Given the description of an element on the screen output the (x, y) to click on. 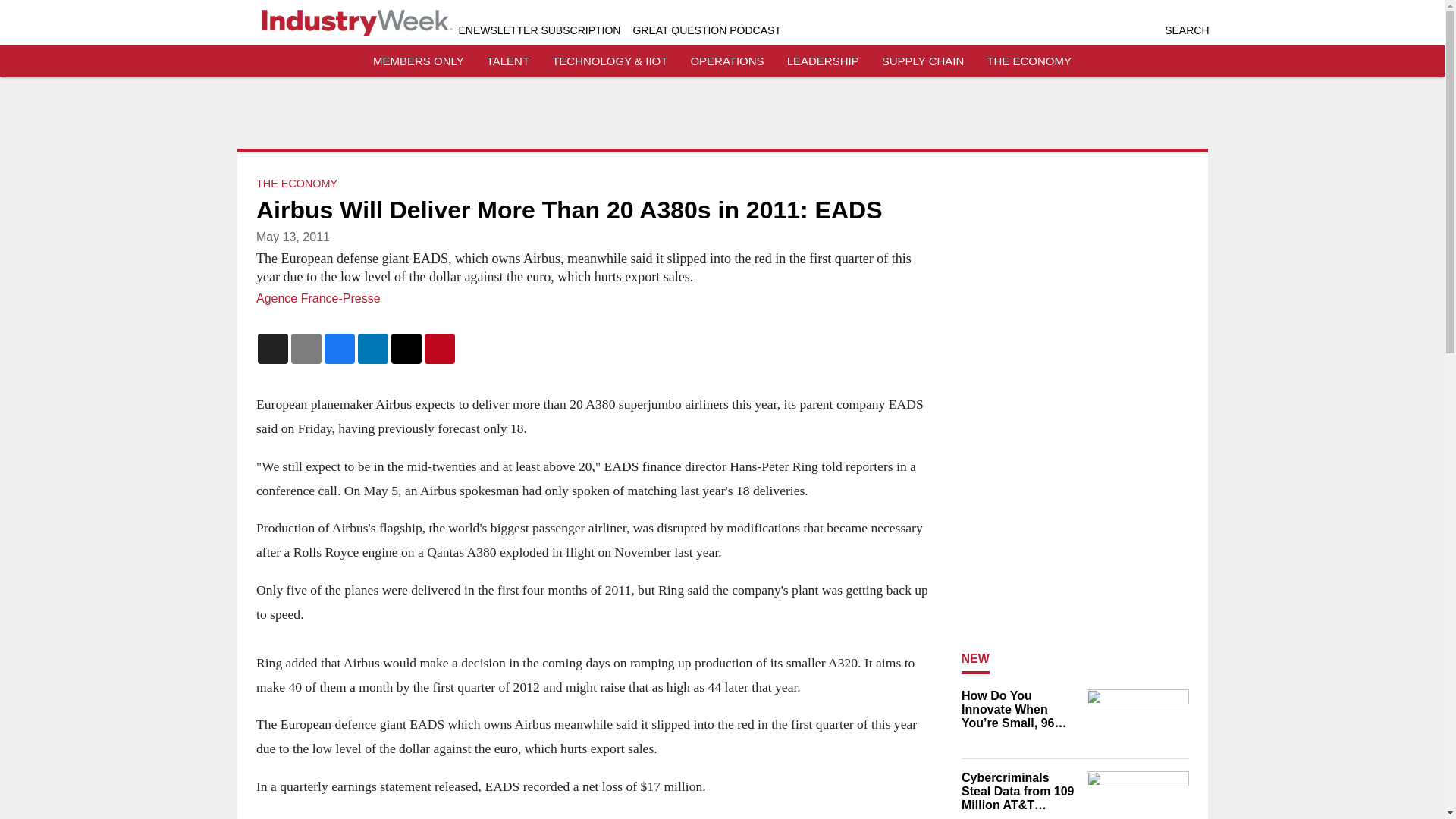
OPERATIONS (726, 60)
SEARCH (1186, 30)
ENEWSLETTER SUBSCRIPTION (539, 30)
GREAT QUESTION PODCAST (705, 30)
Agence France-Presse (318, 297)
TALENT (507, 60)
MEMBERS ONLY (418, 60)
THE ECONOMY (296, 183)
LEADERSHIP (823, 60)
SUPPLY CHAIN (922, 60)
THE ECONOMY (1029, 60)
